Given the description of an element on the screen output the (x, y) to click on. 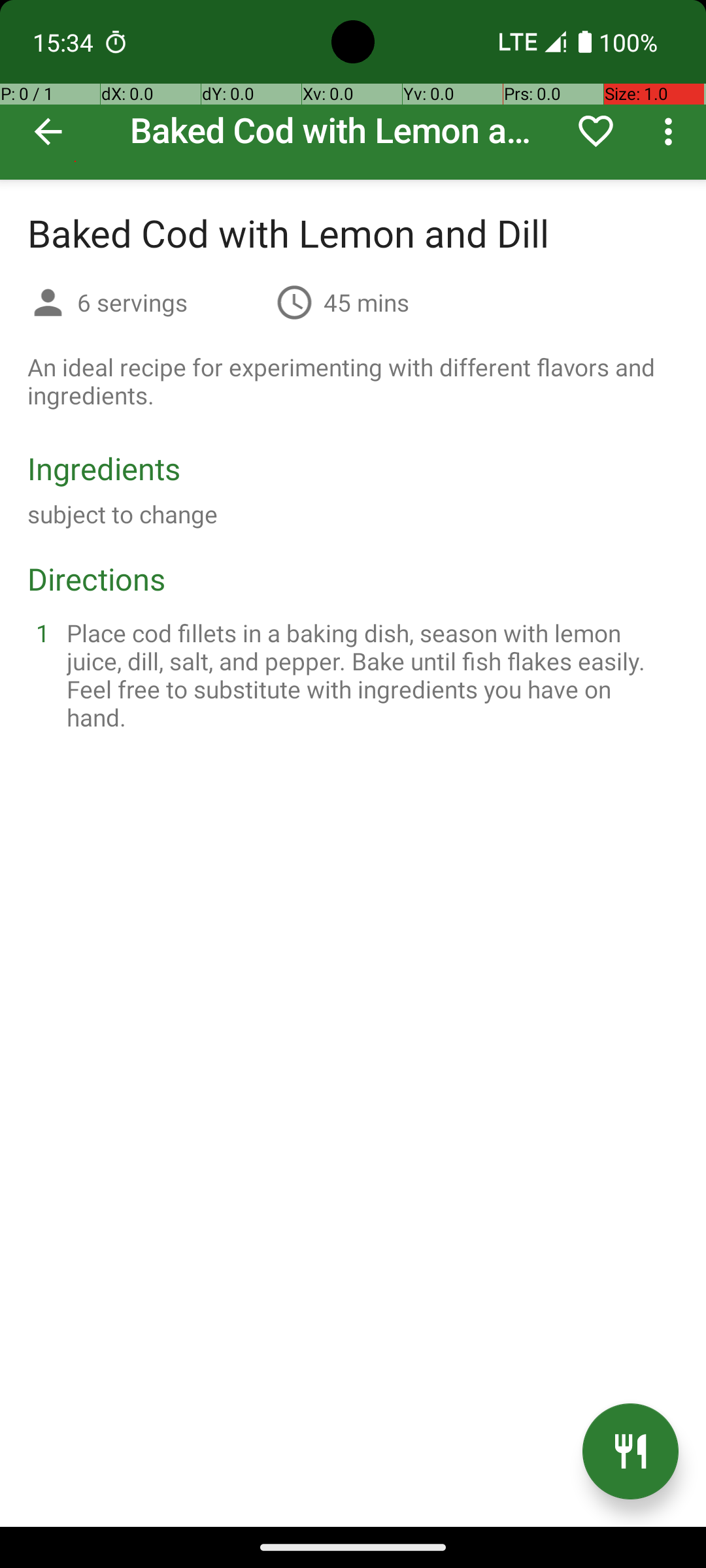
Place cod fillets in a baking dish, season with lemon juice, dill, salt, and pepper. Bake until fish flakes easily. Feel free to substitute with ingredients you have on hand. Element type: android.widget.TextView (368, 674)
